Given the description of an element on the screen output the (x, y) to click on. 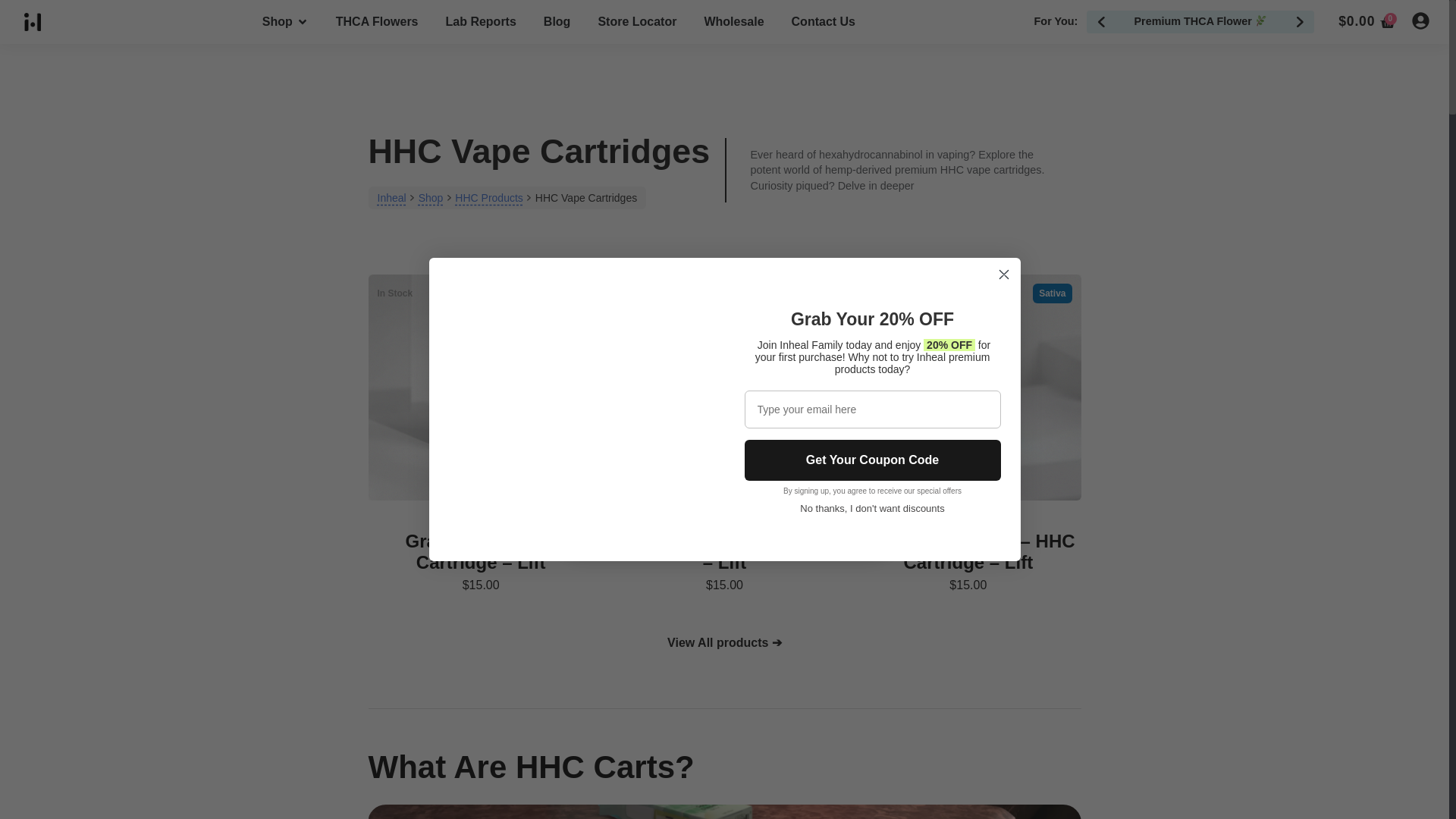
terms and conditions (732, 510)
Wholesale (732, 22)
privacy policy. (829, 510)
Blog (556, 22)
No, I'm Under 21 years old (724, 461)
THCA Flowers (377, 22)
Store Locator (636, 22)
Inheal Discounts (577, 409)
Contact Us (824, 22)
YES, I'm above 21 years old (724, 417)
Lab Reports (480, 22)
